Given the description of an element on the screen output the (x, y) to click on. 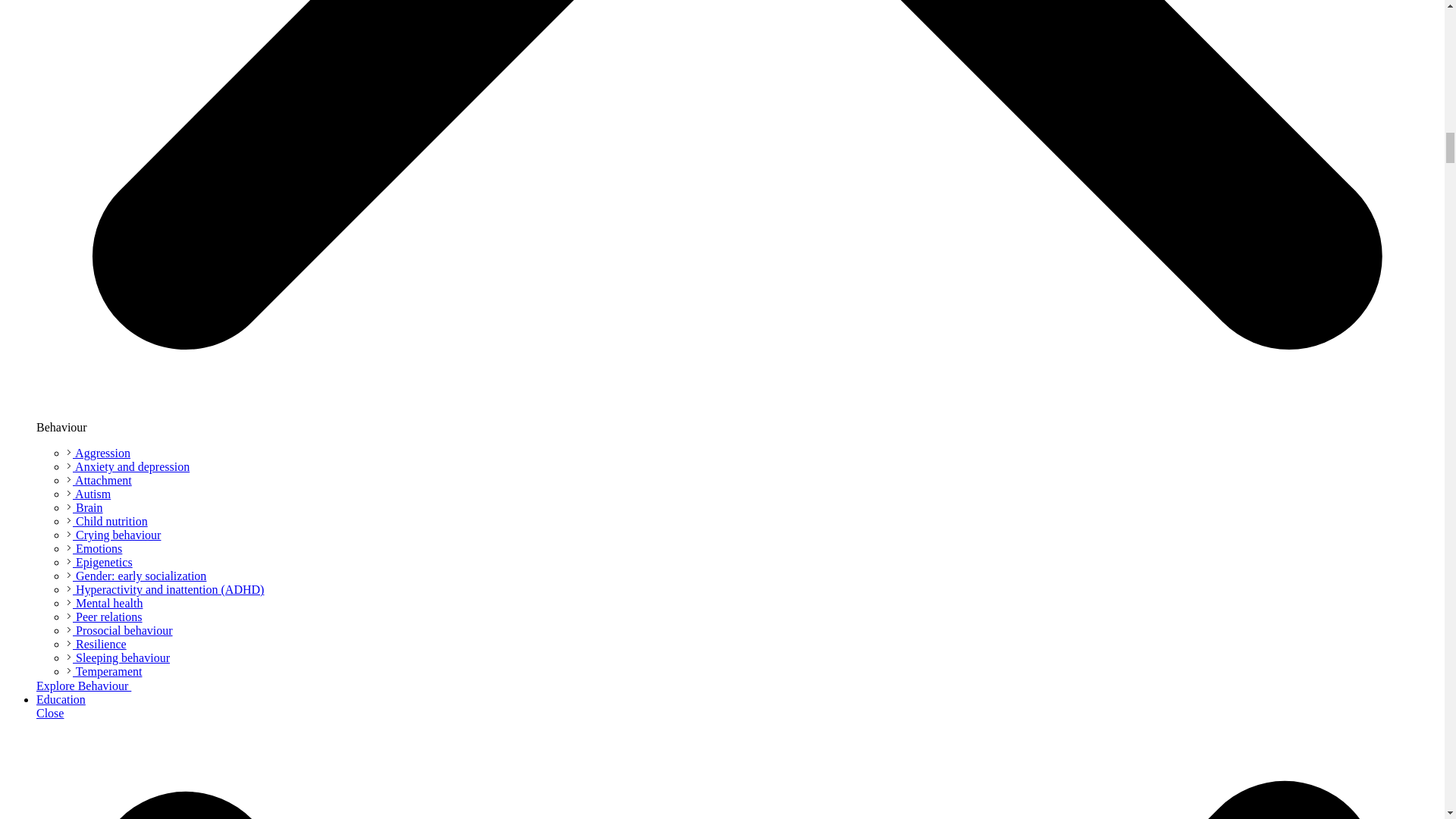
Autism (88, 493)
Explore Behaviour (91, 685)
Peer relations (104, 616)
Child nutrition (107, 521)
Sleeping behaviour (118, 657)
Aggression (98, 452)
Attachment (99, 480)
Epigenetics (99, 562)
Brain (84, 507)
Resilience (96, 644)
Crying behaviour (113, 534)
Temperament (103, 671)
Prosocial behaviour (119, 630)
Education (60, 698)
Emotions (94, 548)
